Given the description of an element on the screen output the (x, y) to click on. 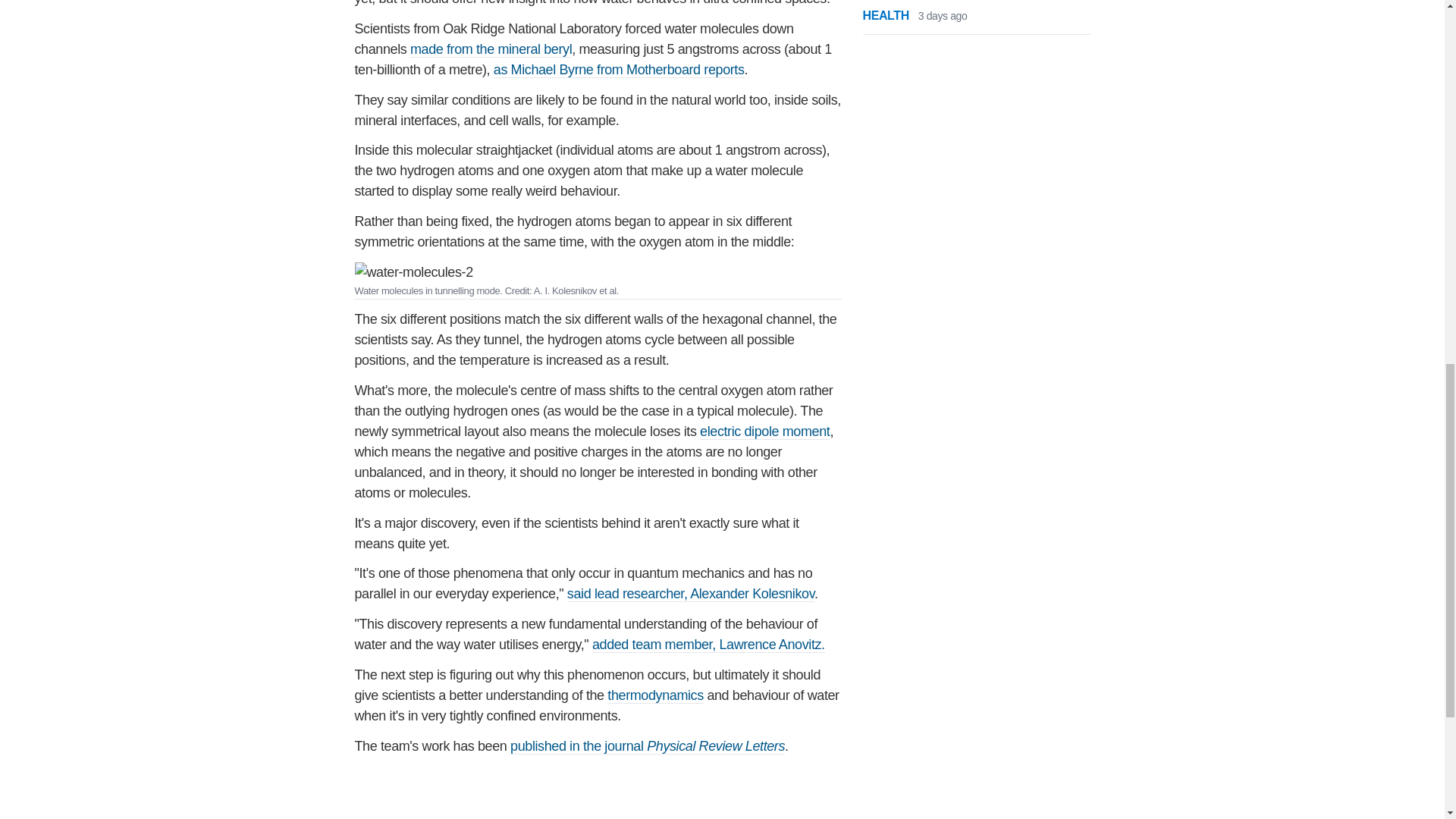
published in the journal Physical Review Letters (647, 746)
as Michael Byrne from Motherboard reports (618, 69)
said lead researcher, Alexander Kolesnikov (690, 593)
thermodynamics (655, 695)
made from the mineral beryl (491, 49)
electric dipole moment (764, 431)
added team member, Lawrence Anovitz. (708, 644)
